Given the description of an element on the screen output the (x, y) to click on. 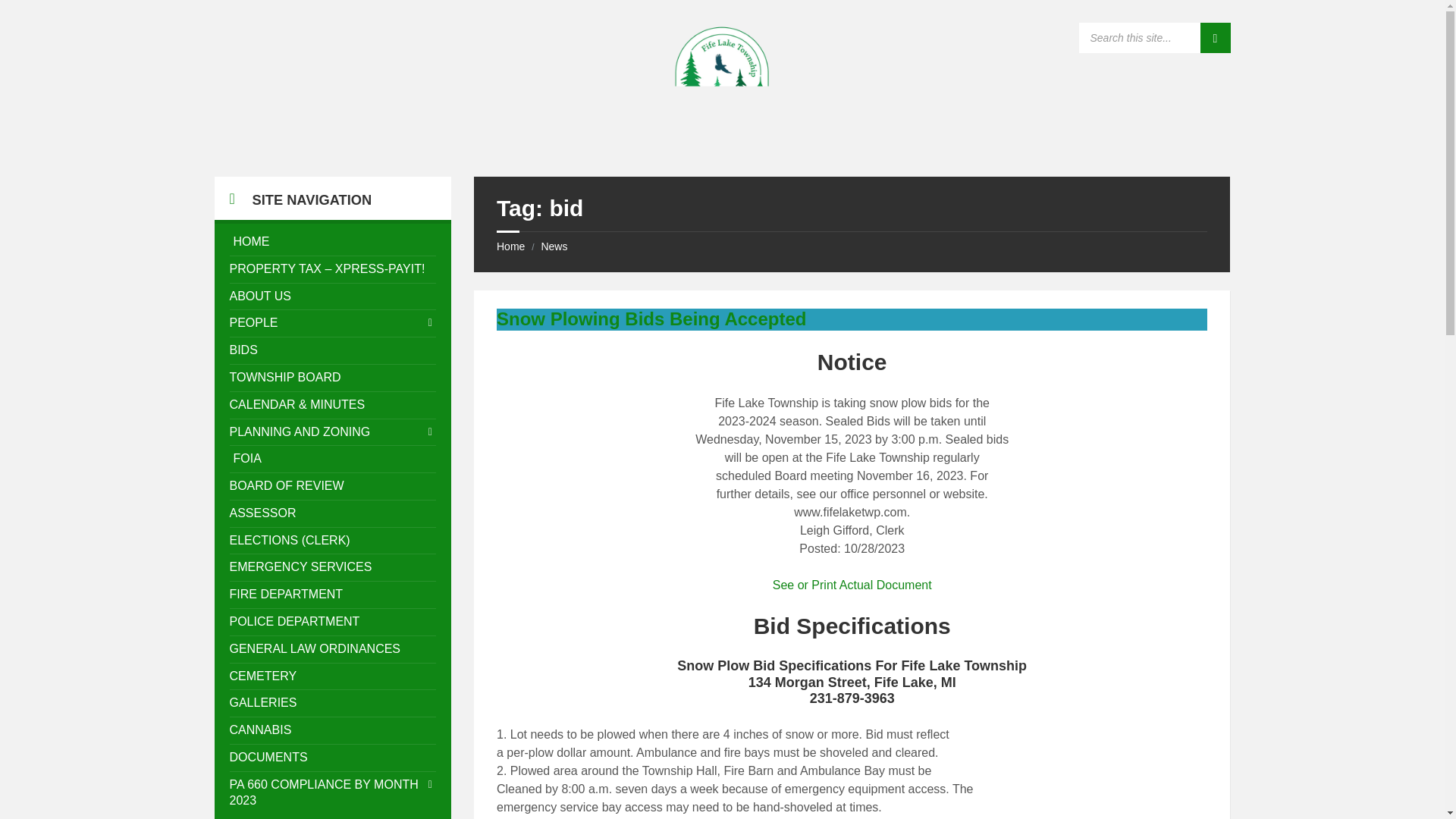
Submit search (1214, 37)
